Given the description of an element on the screen output the (x, y) to click on. 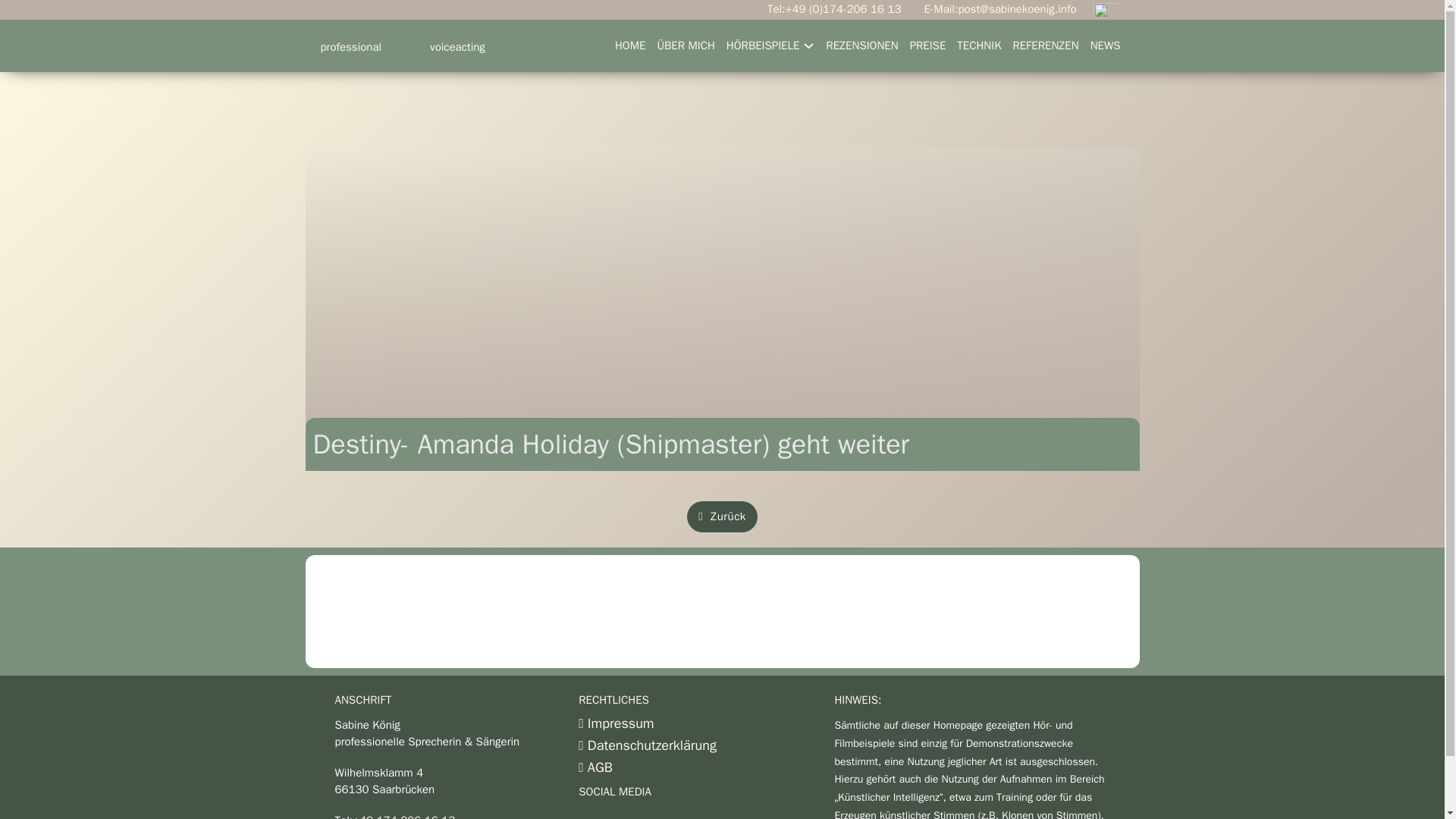
PREISE (927, 46)
TECHNIK (402, 46)
HOME (978, 46)
REFERENZEN (630, 46)
Impressum (1045, 46)
REZENSIONEN (676, 727)
NEWS (861, 46)
